Given the description of an element on the screen output the (x, y) to click on. 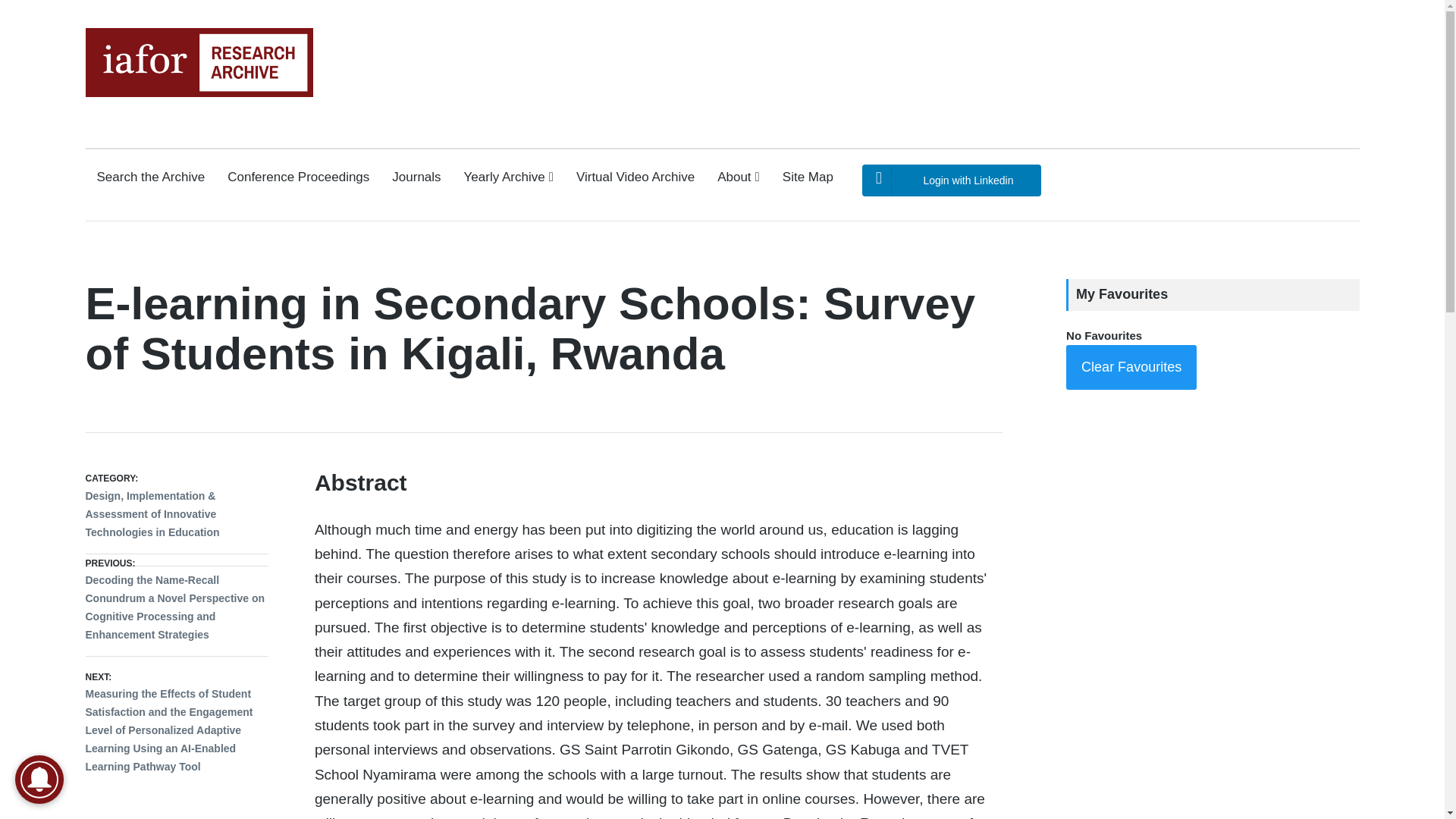
Conference Proceedings (298, 177)
Journals (416, 177)
Site Map (807, 177)
About (738, 177)
Search the Archive (151, 177)
Virtual Video Archive (635, 177)
The IAFOR Research Archive (145, 110)
Yearly Archive (508, 177)
Login with Linkedin (951, 180)
